Given the description of an element on the screen output the (x, y) to click on. 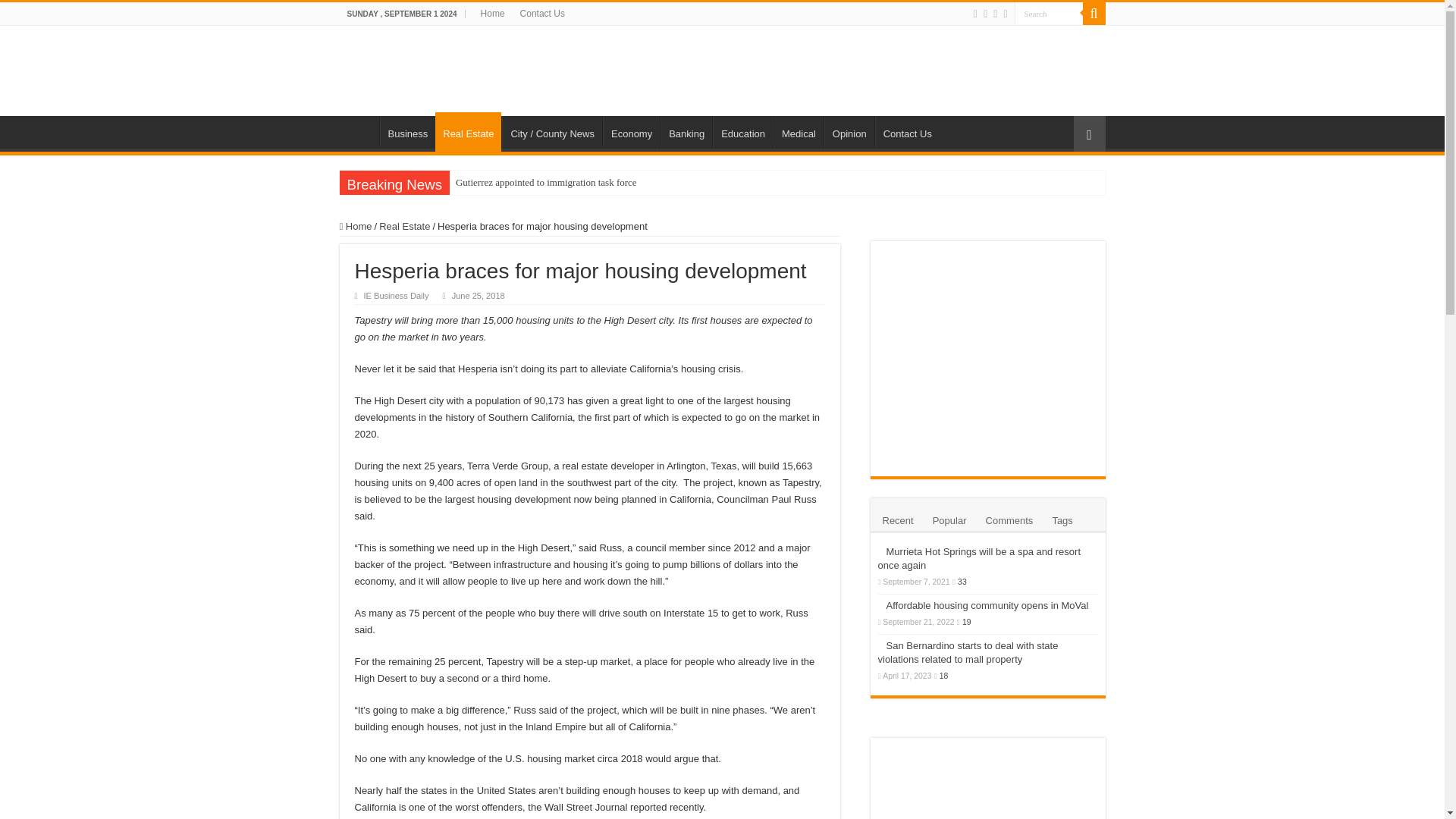
Contact Us (907, 132)
Economy (630, 132)
Home (492, 13)
Real Estate (403, 225)
Contact Us (542, 13)
IE Business Daily (396, 295)
Education (743, 132)
Search (1094, 13)
Search (1048, 13)
Opinion (849, 132)
